Given the description of an element on the screen output the (x, y) to click on. 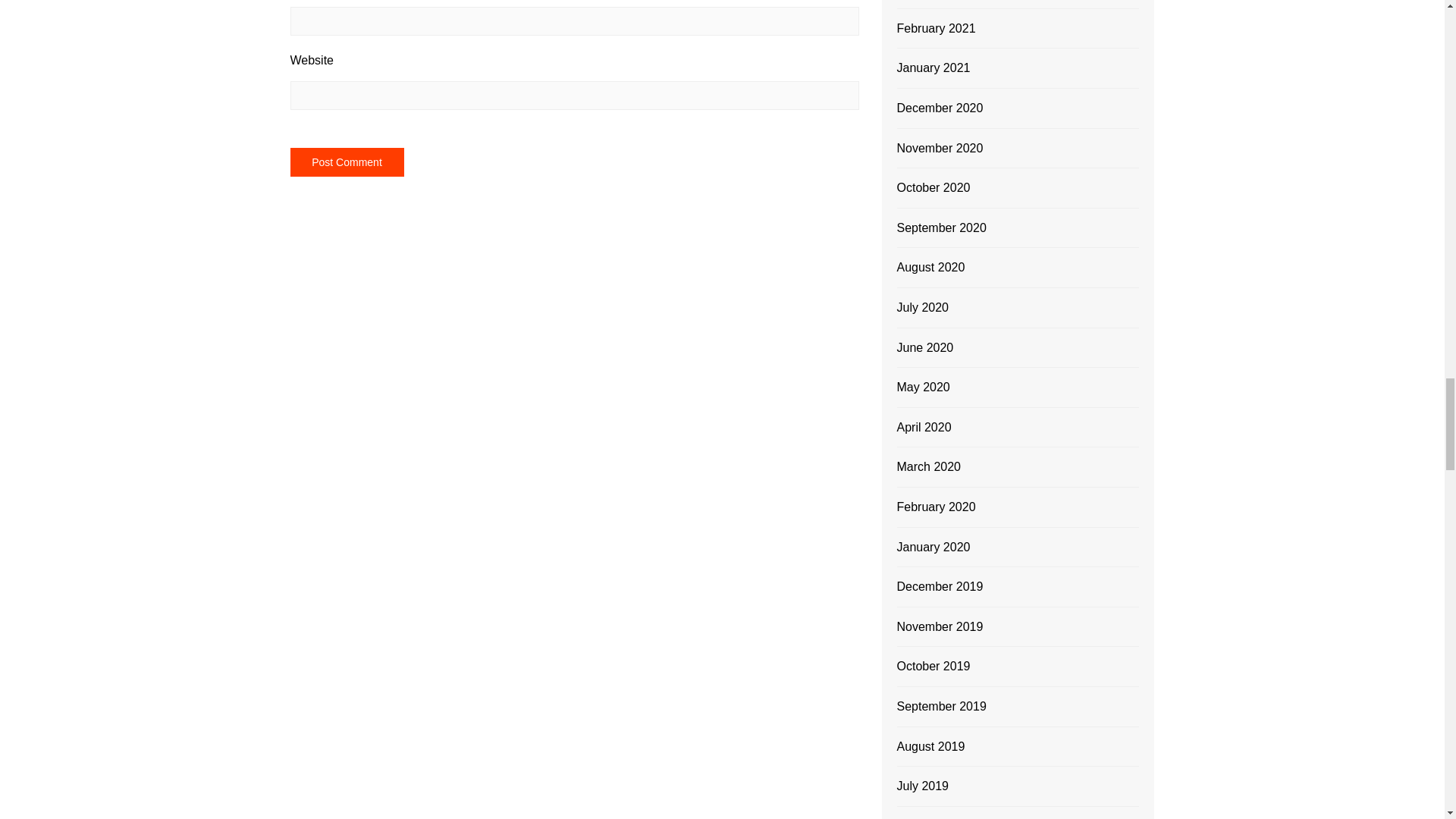
Post Comment (346, 162)
